Given the description of an element on the screen output the (x, y) to click on. 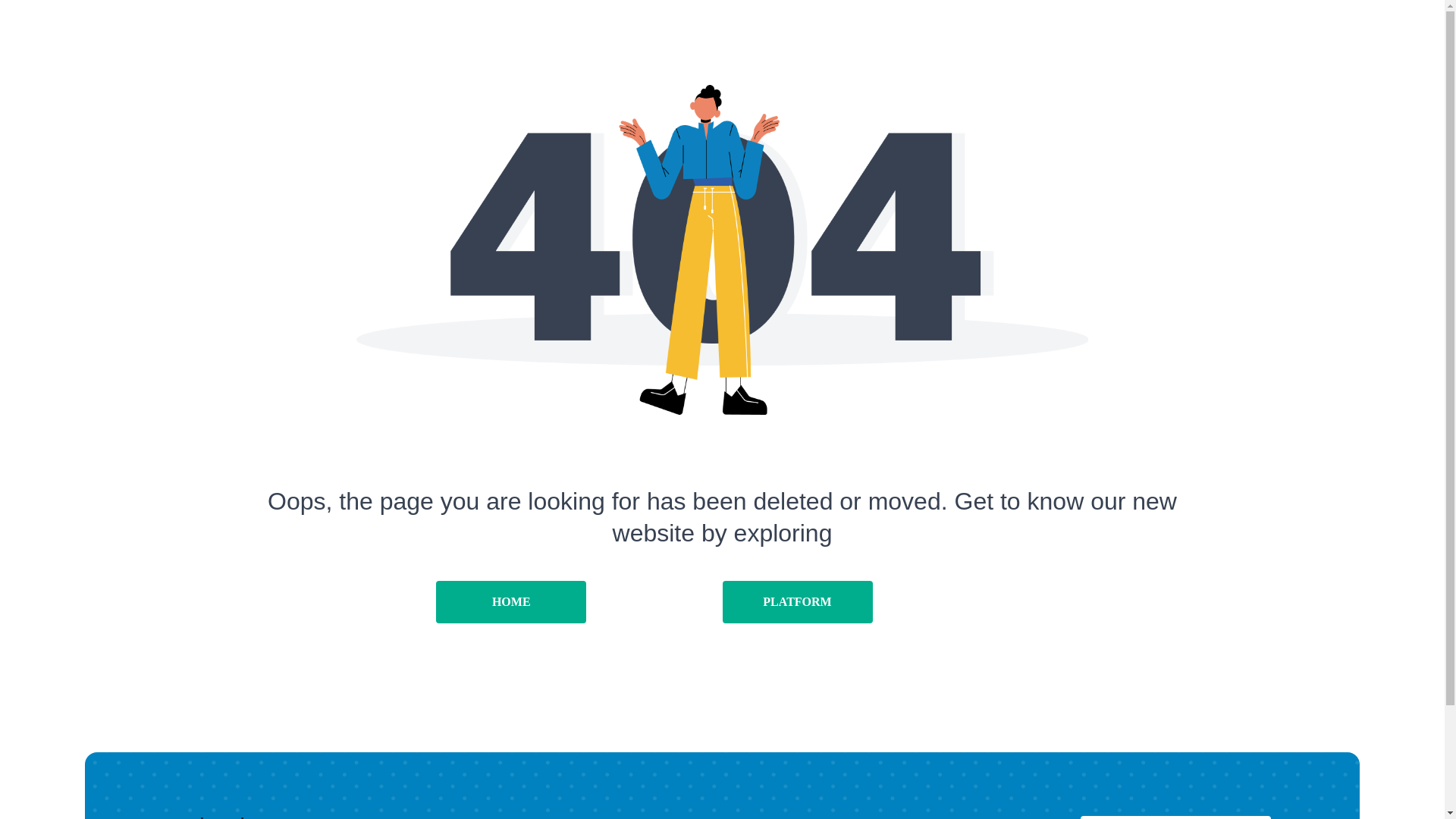
PLATFORM (797, 601)
HOME (510, 601)
CONTACT US (1175, 817)
